Given the description of an element on the screen output the (x, y) to click on. 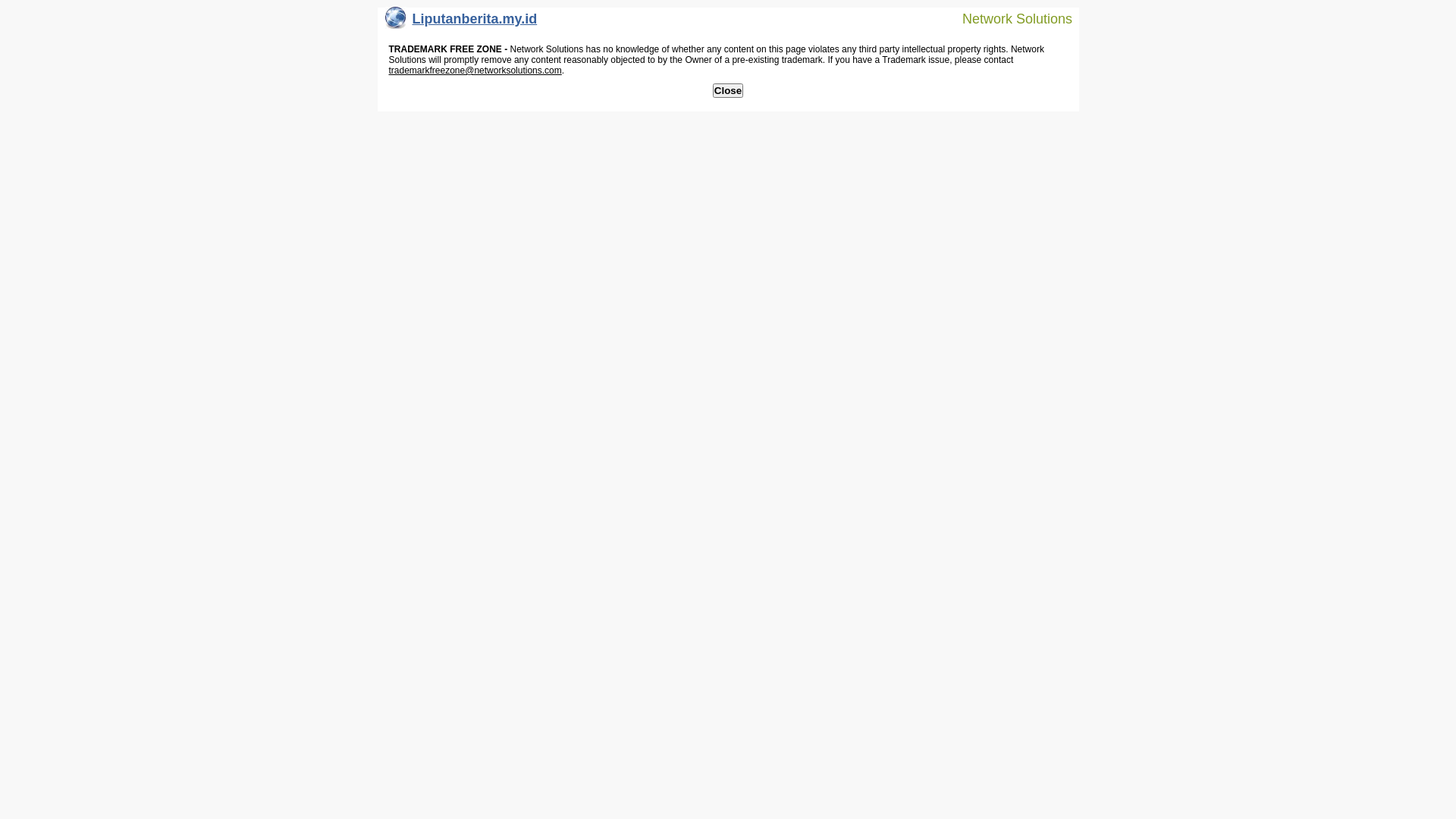
Network Solutions Element type: text (1007, 17)
Liputanberita.my.id Element type: text (461, 21)
trademarkfreezone@networksolutions.com Element type: text (474, 70)
Close Element type: text (727, 90)
